Given the description of an element on the screen output the (x, y) to click on. 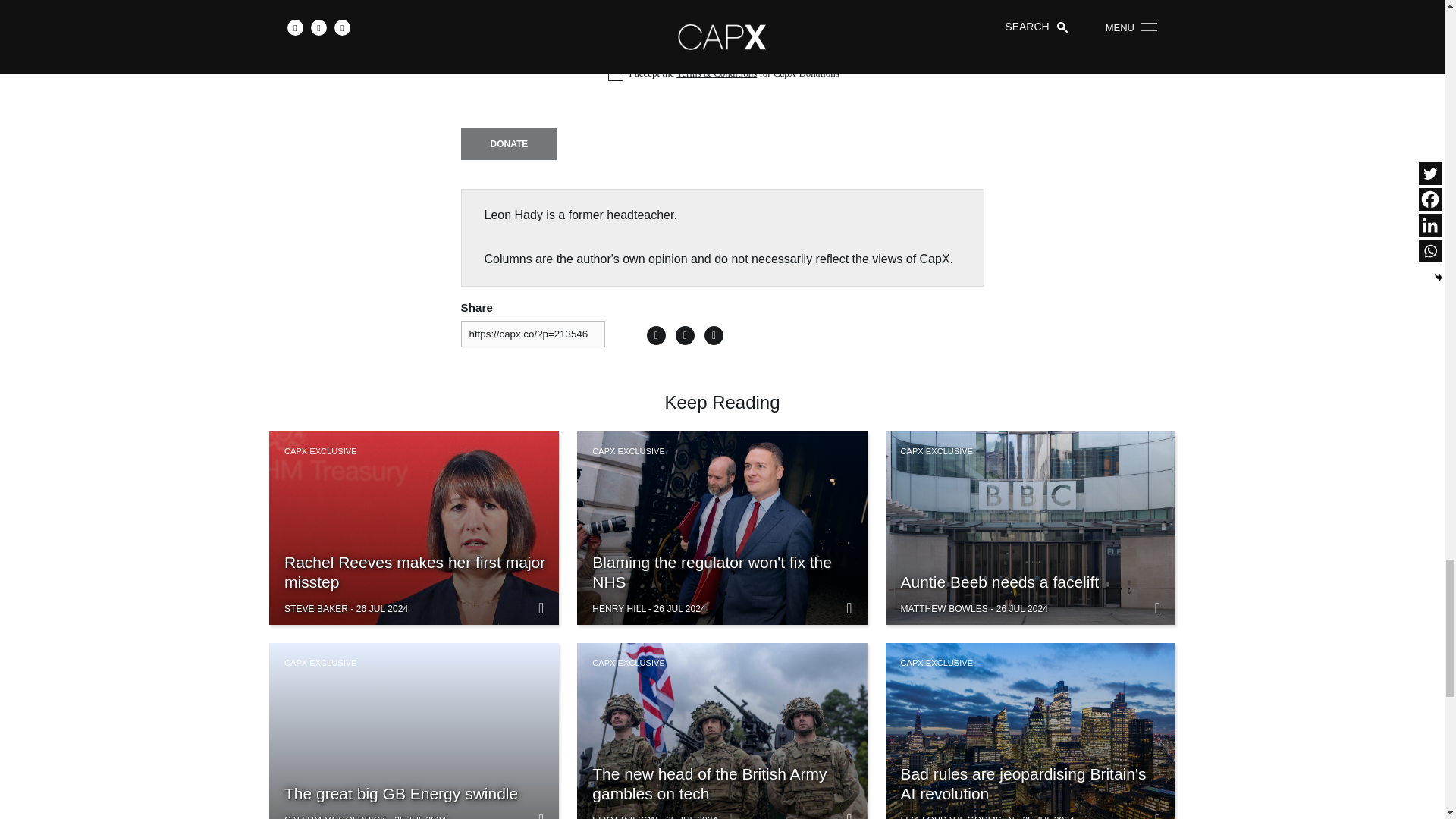
Donate (509, 143)
